Given the description of an element on the screen output the (x, y) to click on. 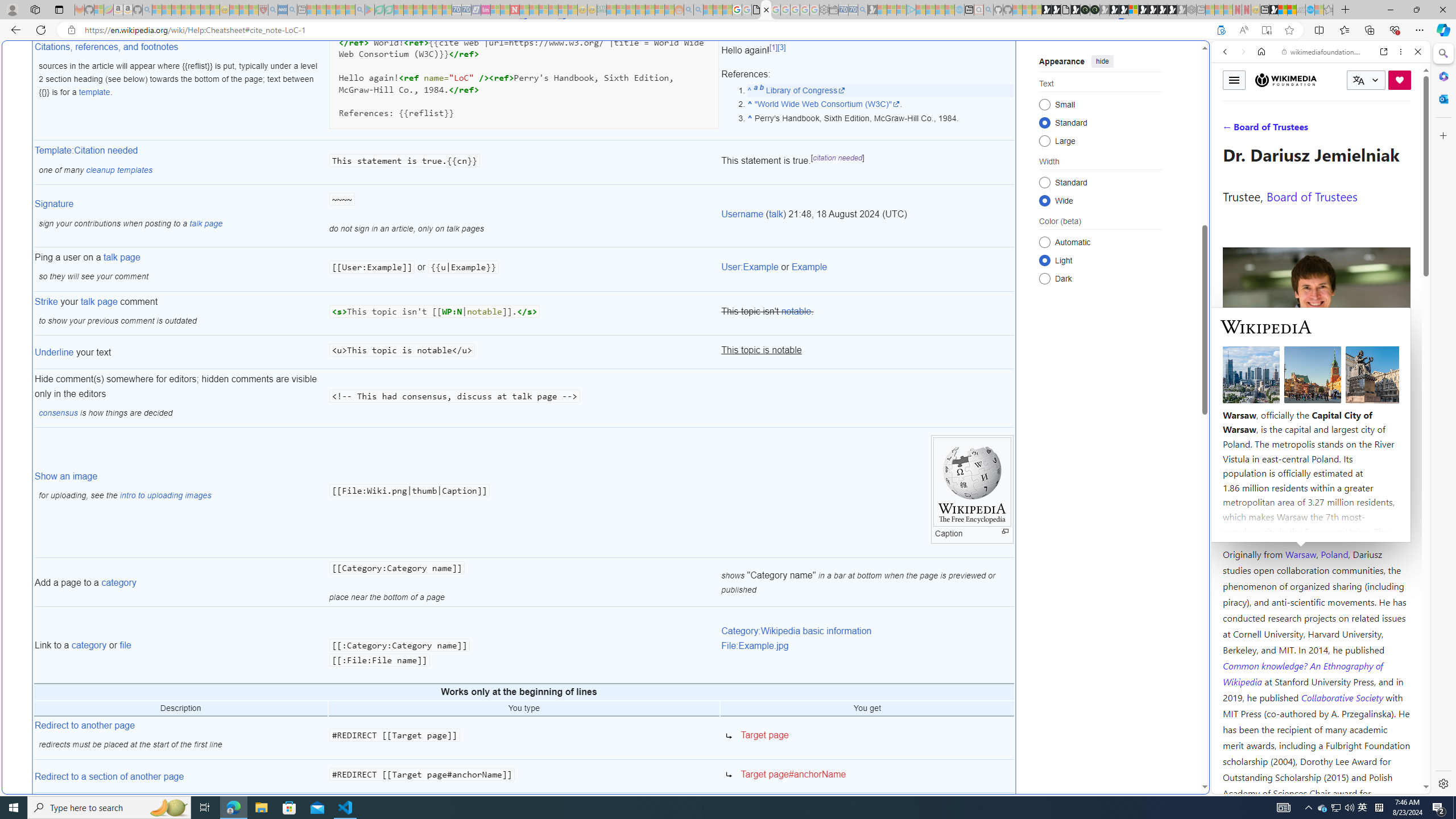
Underline your text (180, 352)
^Jump up to:a b Library of Congress (879, 90)
Future Focus Report 2024 (1094, 9)
Earth has six continents not seven, radical new study claims (1291, 9)
Tabs you've opened (885, 151)
utah sues federal government - Search - Sleeping (291, 9)
Library of Congress (805, 90)
Search or enter web address (922, 108)
Large (1044, 140)
